Given the description of an element on the screen output the (x, y) to click on. 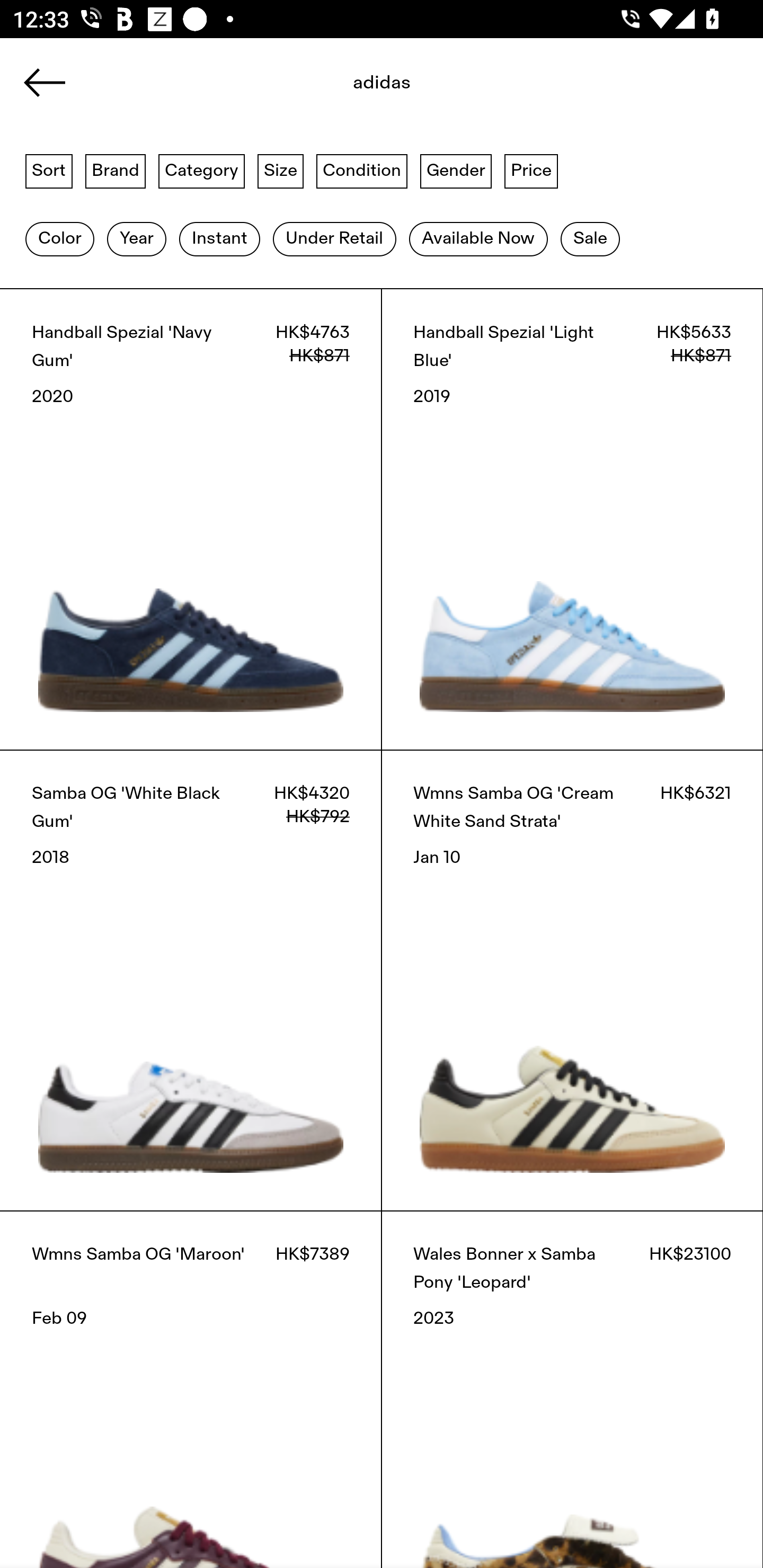
soccer shoes (381, 88)
Sort (48, 170)
Brand (115, 170)
Category (201, 170)
Size (280, 170)
Condition (361, 170)
Gender (455, 170)
Price (530, 170)
Color (59, 239)
Year (136, 239)
Instant (219, 239)
Under Retail (334, 239)
Available Now (477, 239)
Sale (589, 239)
Handball Spezial 'Navy Gum' HK$4763 HK$871 2020 (190, 518)
Handball Spezial 'Light Blue' HK$5633 HK$871 2019 (572, 518)
Samba OG 'White Black Gum' HK$4320 HK$792 2018 (190, 979)
Wmns Samba OG 'Maroon' HK$7389 Feb 09 (190, 1389)
Wales Bonner x Samba Pony 'Leopard' HK$23100 2023 (572, 1389)
